Given the description of an element on the screen output the (x, y) to click on. 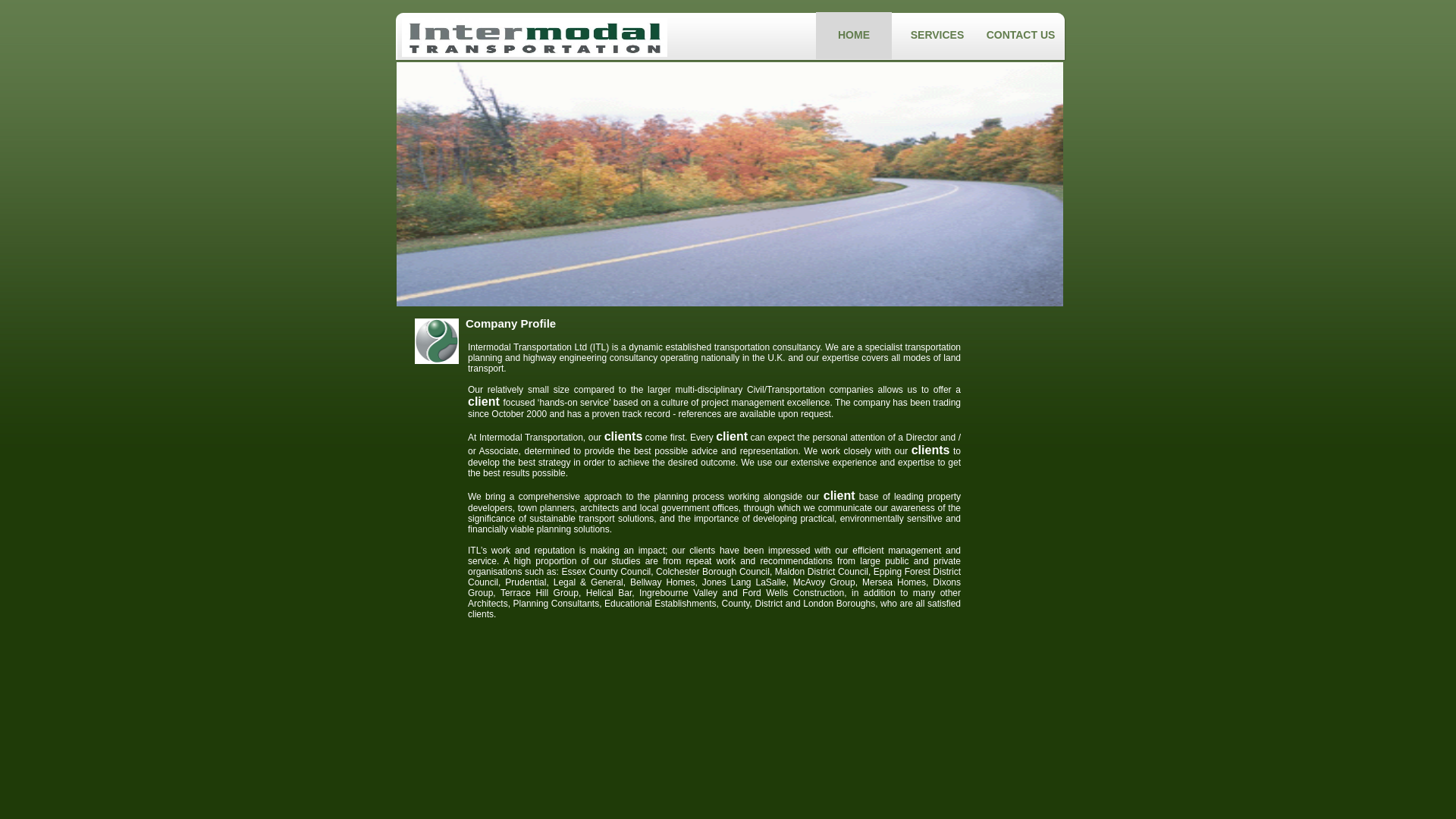
Contact us (1020, 35)
Home (853, 35)
 Services (937, 35)
